Given the description of an element on the screen output the (x, y) to click on. 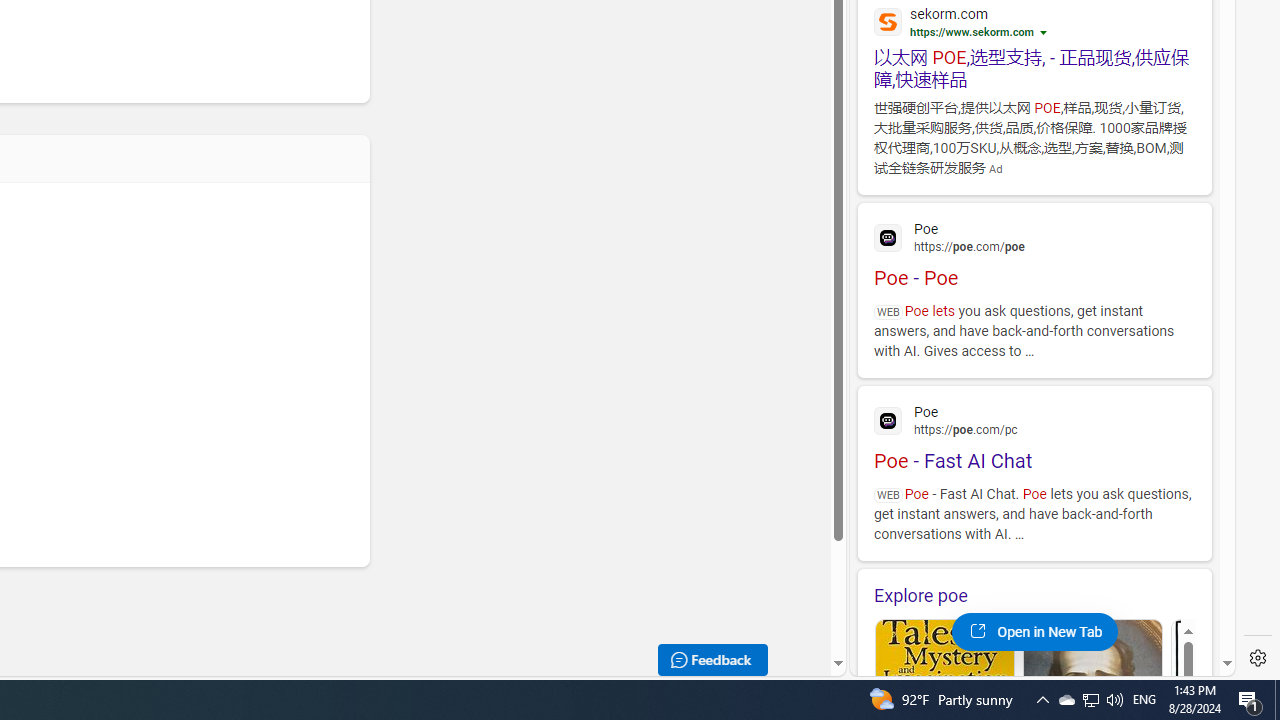
Global web icon (888, 421)
Poe - Fast AI Chat (1034, 435)
SERP,5405 (1034, 68)
Explore poe (1034, 595)
Poe (1034, 419)
Poe - Poe (1034, 252)
https://www.sekorm.com (972, 31)
Learn how your ads are chosen (1045, 34)
Settings (1258, 658)
